Given the description of an element on the screen output the (x, y) to click on. 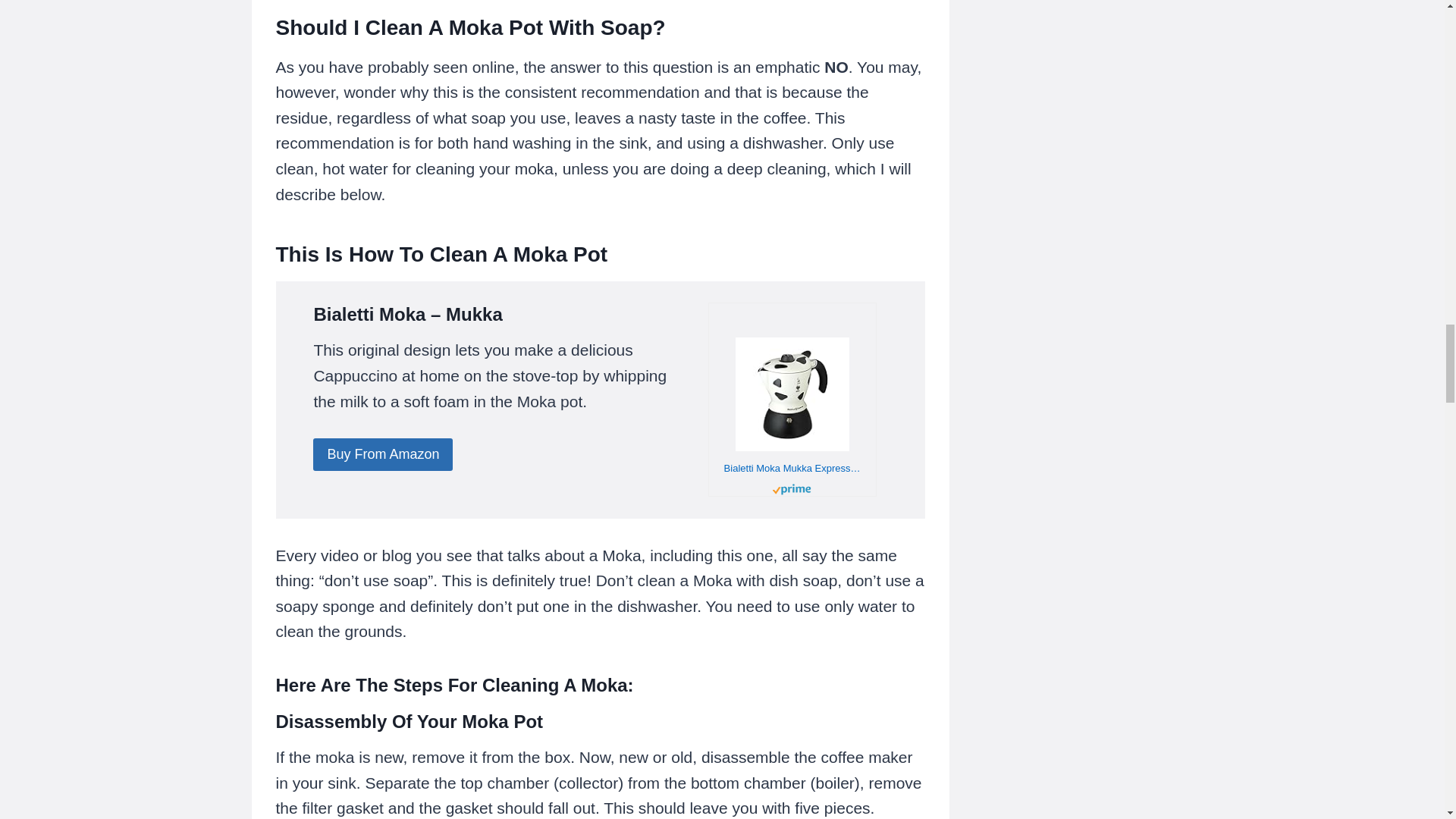
Bialetti Moka Mukka Express Coffee Maker, Small, Aluminum (791, 467)
Buy From Amazon (382, 454)
